Given the description of an element on the screen output the (x, y) to click on. 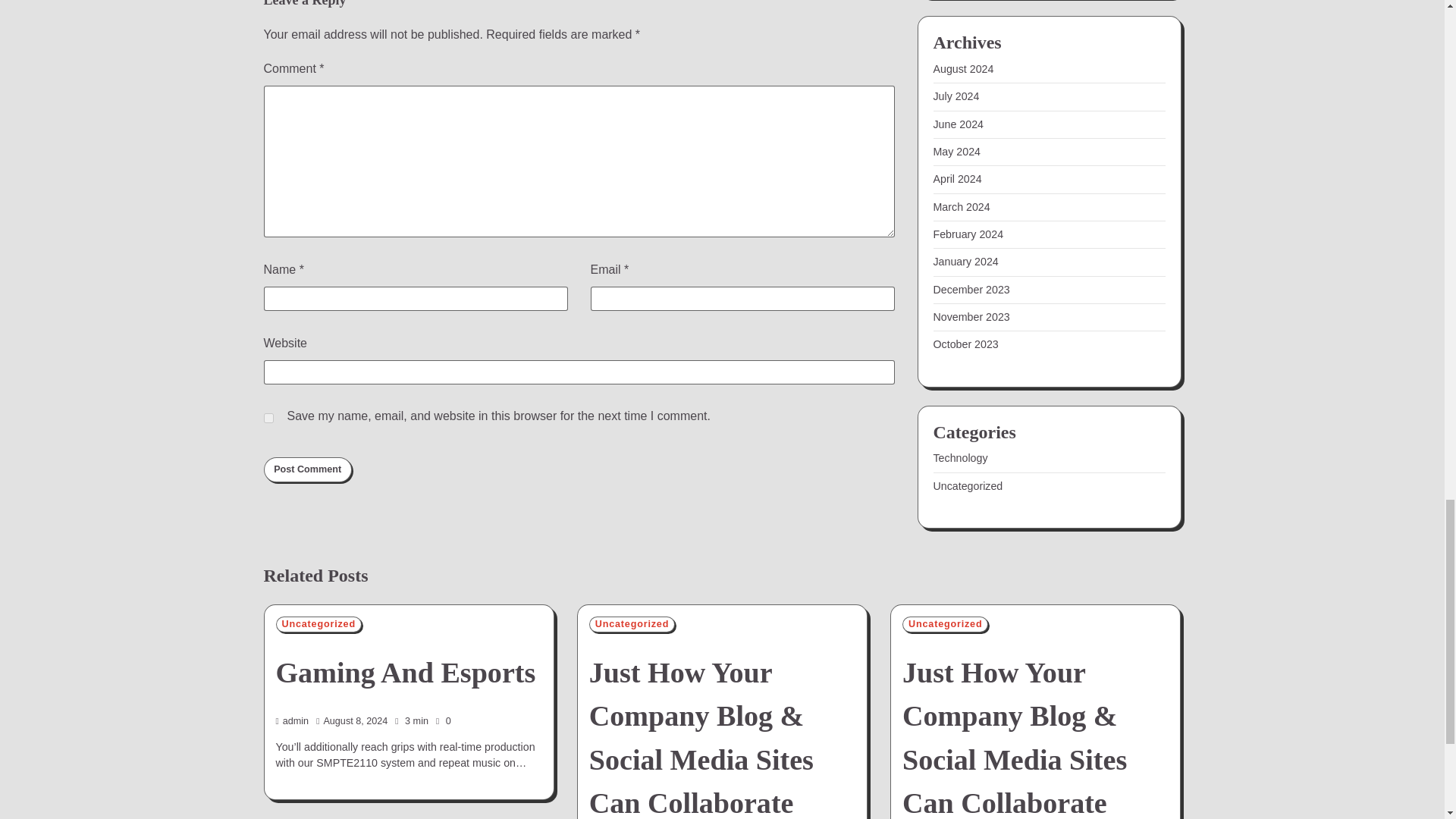
Post Comment (307, 470)
Post Comment (307, 470)
yes (268, 418)
